Given the description of an element on the screen output the (x, y) to click on. 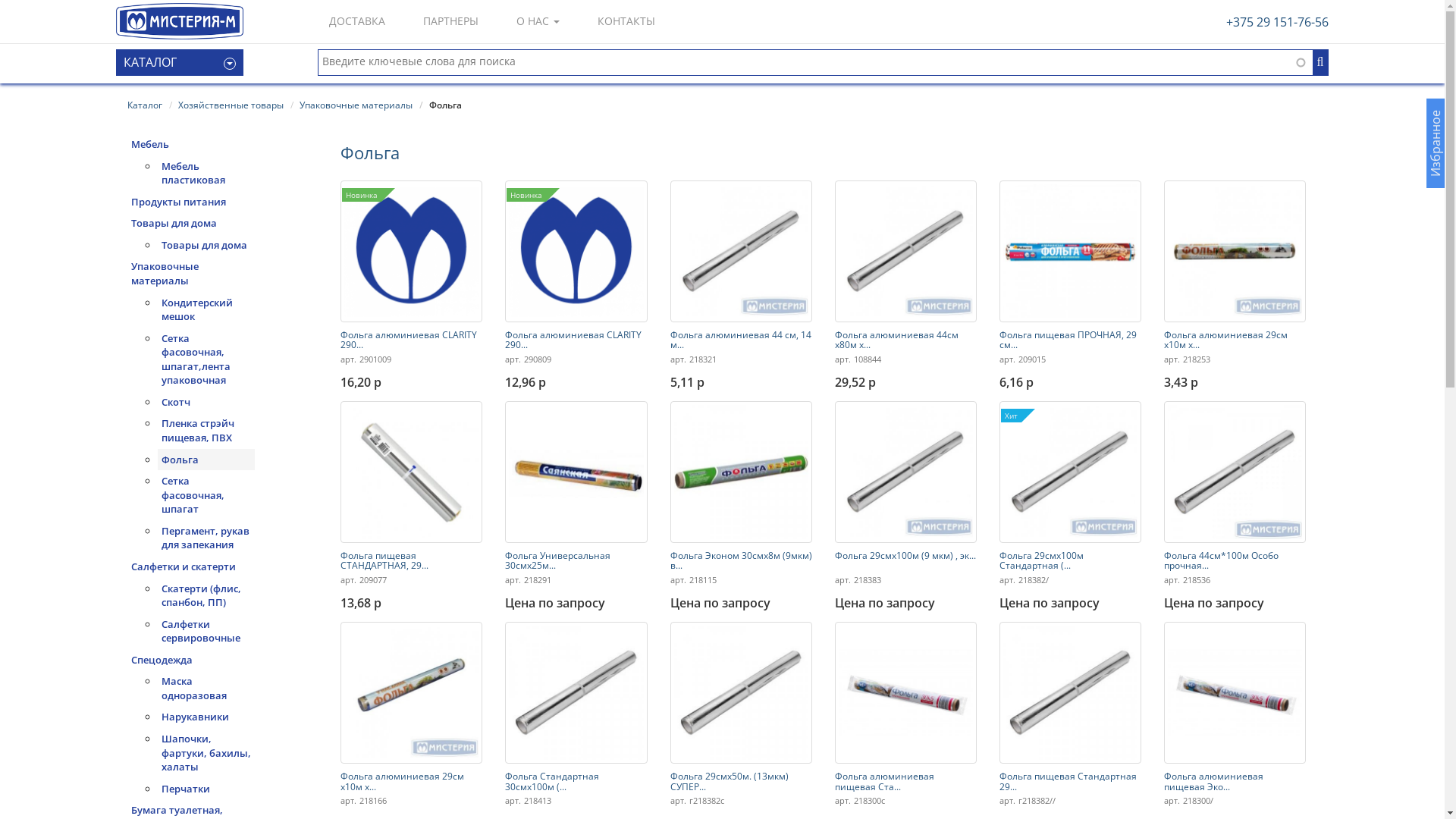
+375 29 151-76-56 Element type: text (1277, 21)
